Given the description of an element on the screen output the (x, y) to click on. 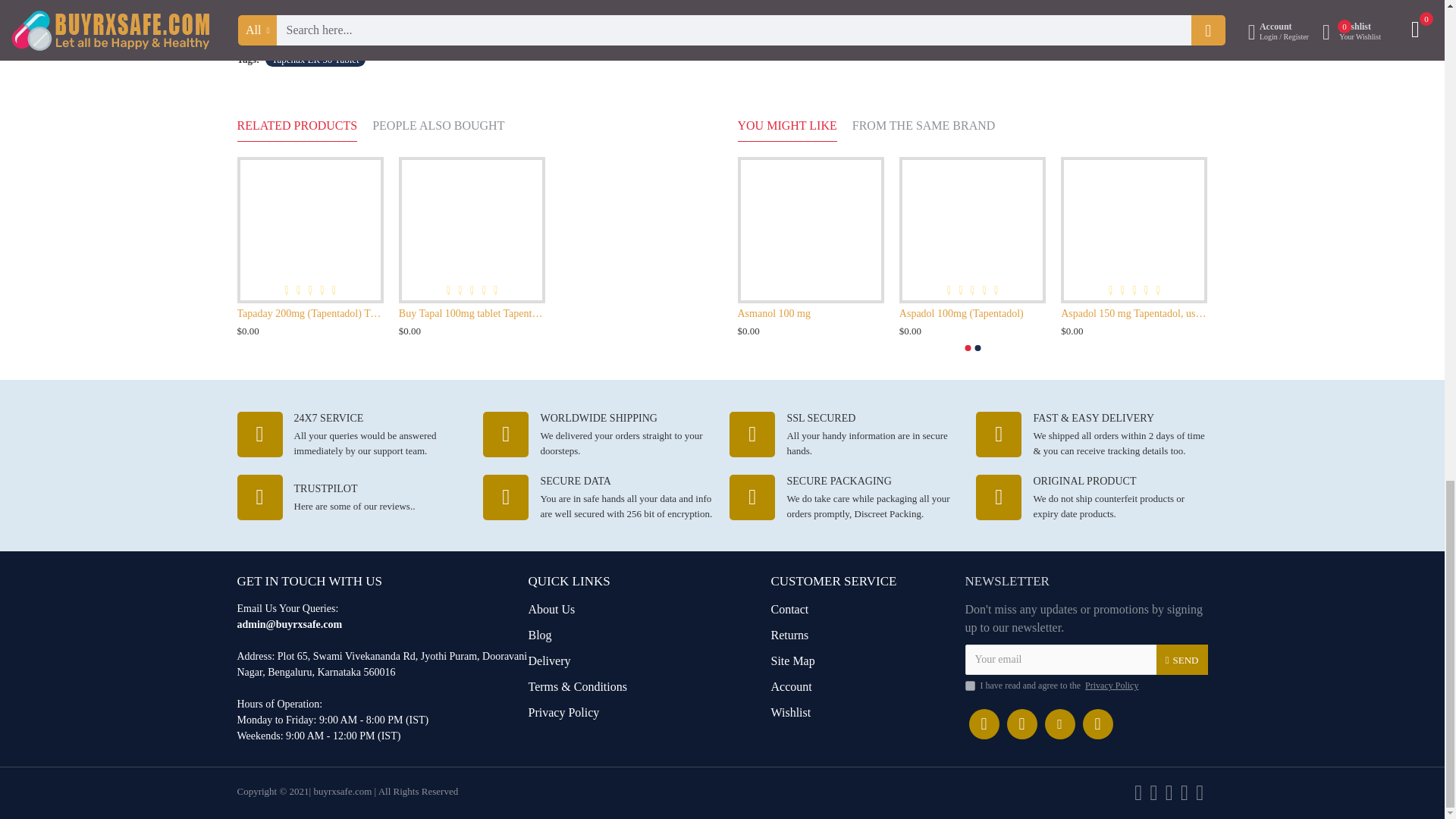
1 (968, 685)
